Given the description of an element on the screen output the (x, y) to click on. 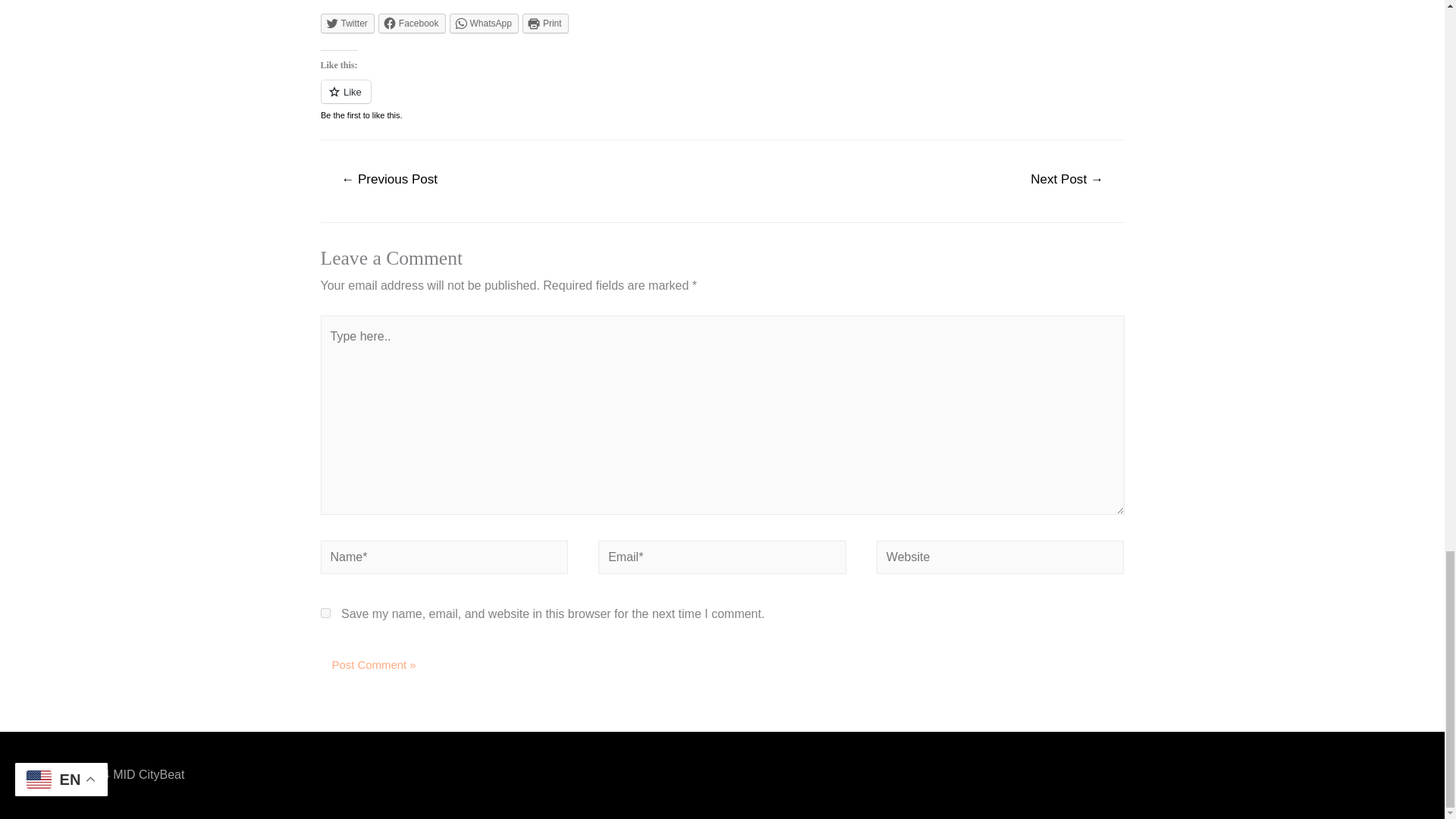
Click to share on Facebook (411, 23)
Facebook (411, 23)
yes (325, 613)
Like or Reblog (722, 100)
Twitter (347, 23)
Click to print (545, 23)
WhatsApp (483, 23)
Click to share on WhatsApp (483, 23)
Click to share on Twitter (347, 23)
Print (545, 23)
